Given the description of an element on the screen output the (x, y) to click on. 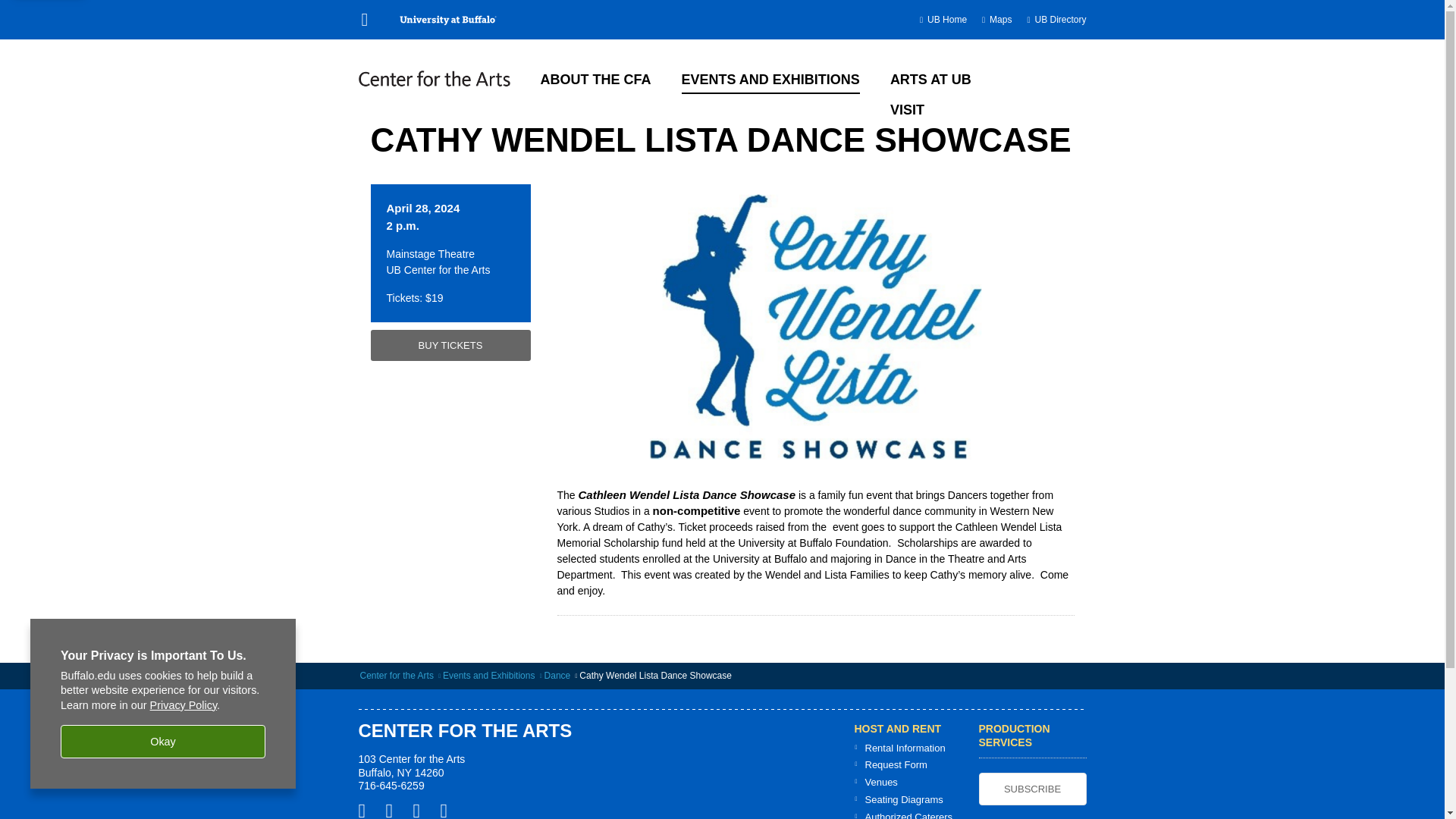
UBCFA Instagram (422, 809)
UBCFA Facebook (367, 809)
UB Directory (1059, 19)
ABOUT THE CFA (595, 77)
UBCFA Twitter (394, 809)
ARTS AT UB (930, 77)
Maps (1000, 19)
UBCFA Youtube (449, 809)
UB Home (946, 19)
BUY TICKETS (449, 345)
VISIT (906, 107)
EVENTS AND EXHIBITIONS (769, 77)
Center for the Arts (395, 675)
